Given the description of an element on the screen output the (x, y) to click on. 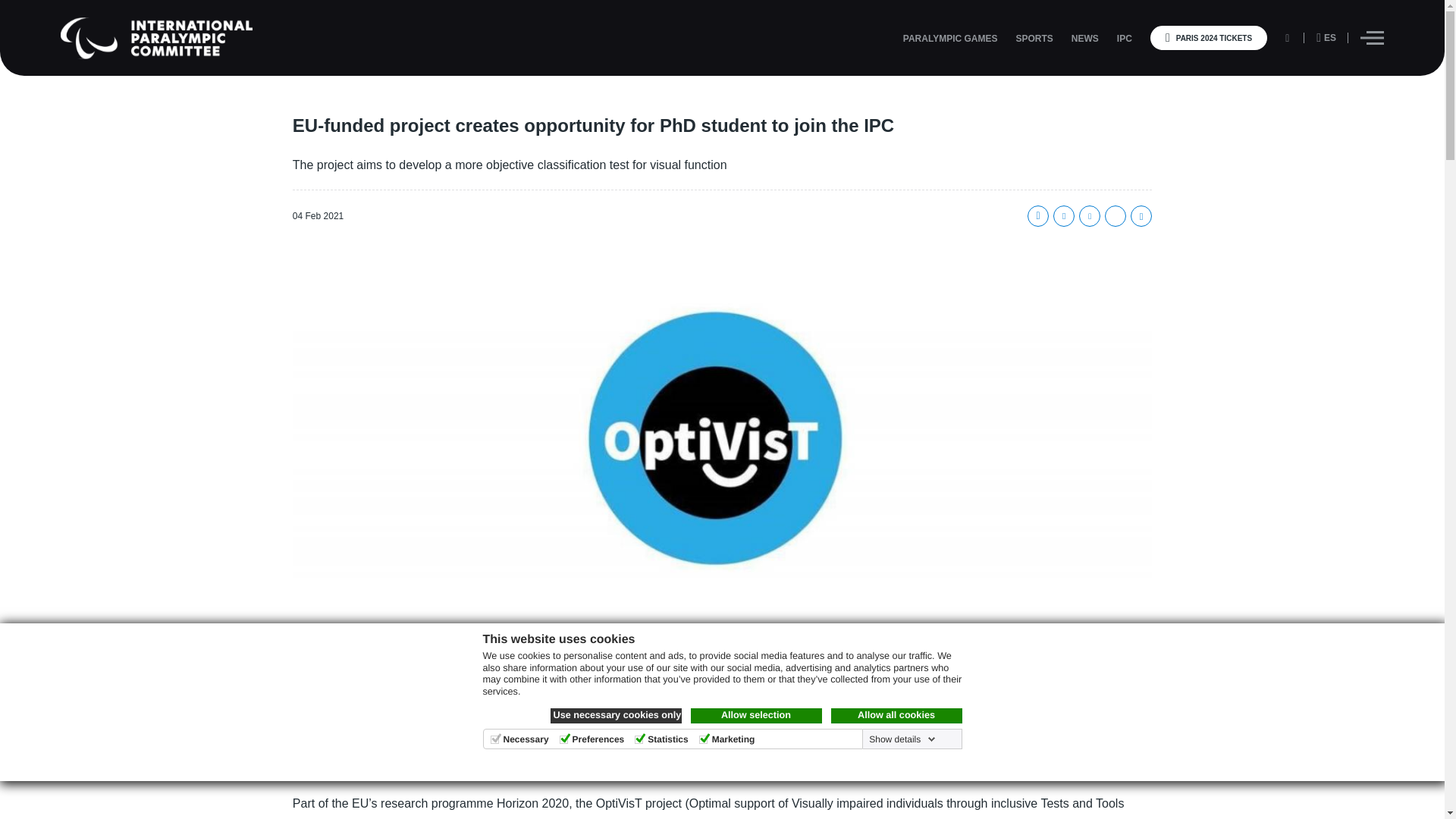
Allow selection (755, 715)
Allow all cookies (896, 715)
Show details (900, 739)
Use necessary cookies only (615, 715)
